Given the description of an element on the screen output the (x, y) to click on. 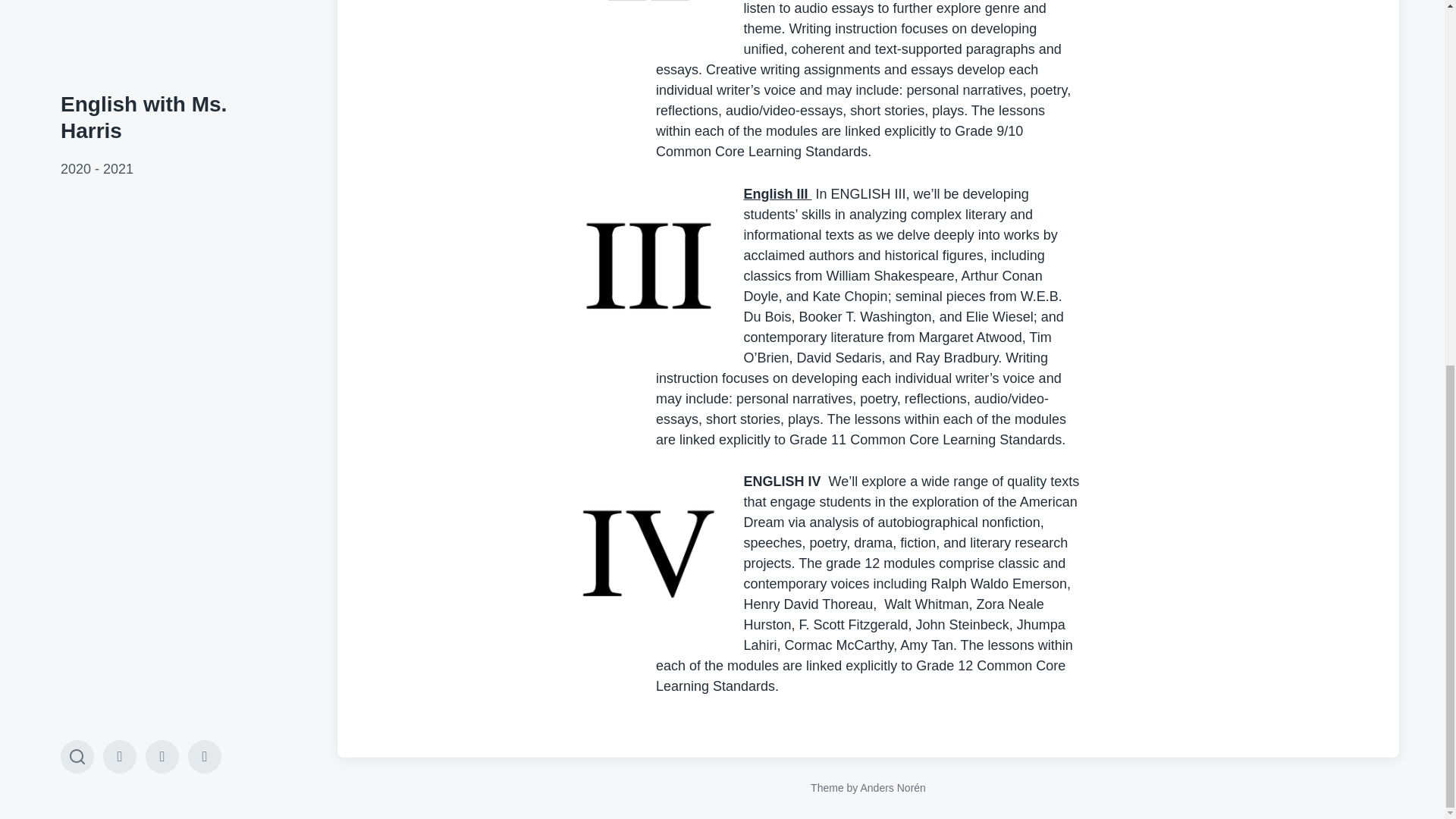
On Instagram (119, 101)
English III  (776, 193)
Toggle the search field (77, 101)
On YouTube (162, 101)
On Twitter (204, 101)
